Given the description of an element on the screen output the (x, y) to click on. 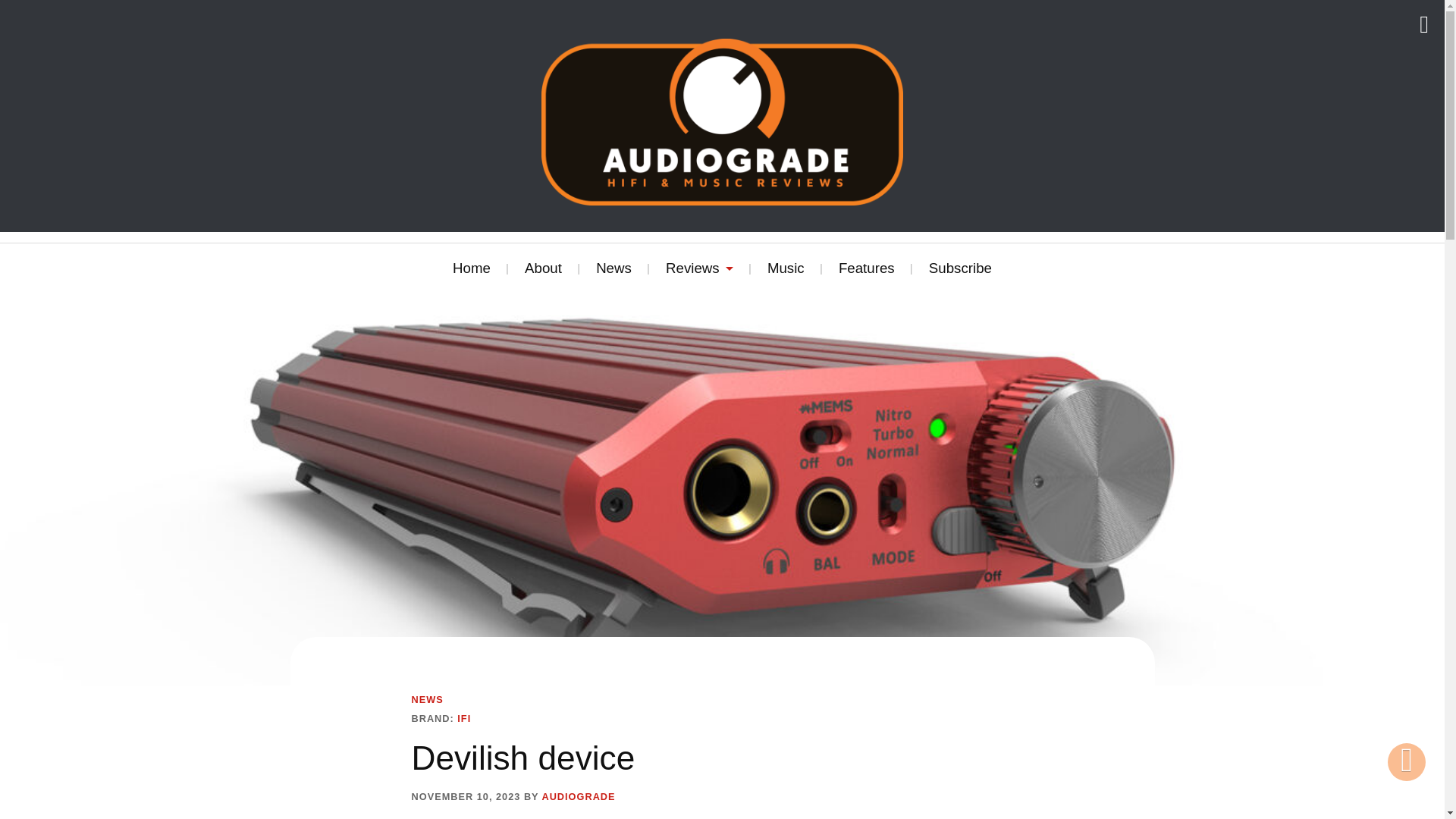
Posts by Audiograde (577, 797)
Subscribe (959, 268)
Features (866, 268)
Reviews (699, 268)
